Given the description of an element on the screen output the (x, y) to click on. 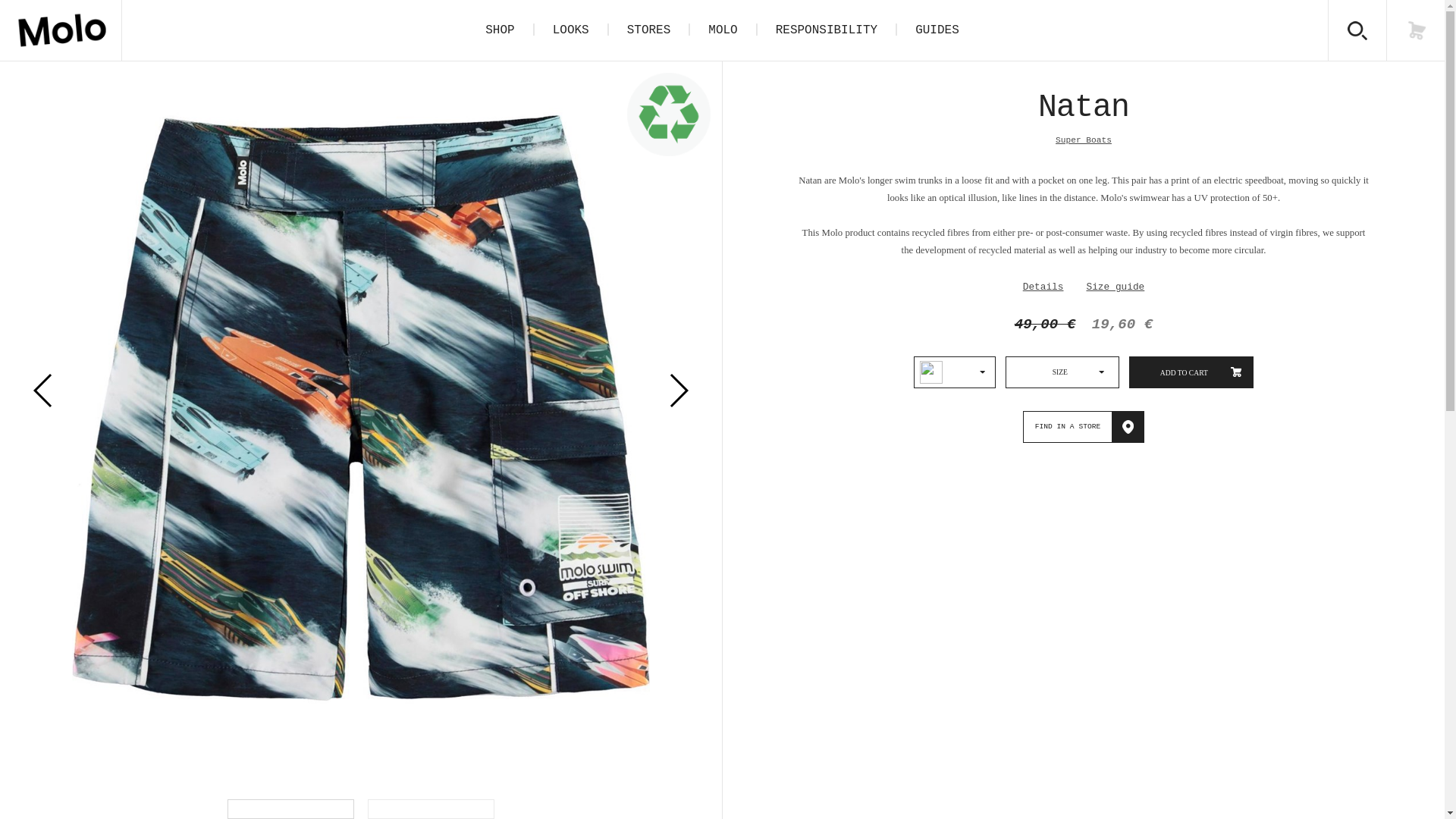
Super Boats (1083, 139)
STORES (648, 30)
molo (61, 30)
GUIDES (937, 30)
SHOP (498, 30)
RESPONSIBILITY (826, 30)
LOOKS (570, 30)
MOLO (722, 30)
